Given the description of an element on the screen output the (x, y) to click on. 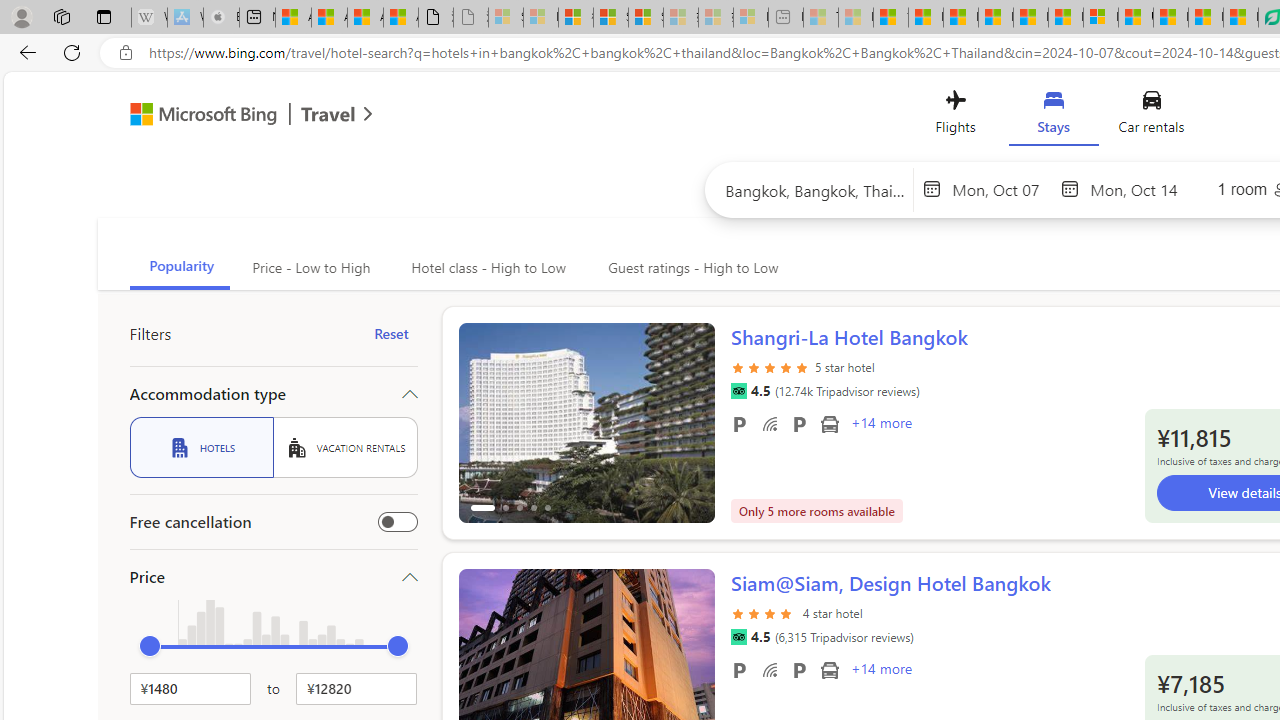
Class: msft-bing-logo msft-bing-logo-desktop (198, 114)
star rating (763, 612)
VACATION RENTALS (345, 447)
max  (397, 645)
Foo BAR | Trusted Community Engagement and Contributions (1065, 17)
Slide 1 (586, 422)
Class: msft-travel-logo (328, 114)
Travel (328, 116)
Aberdeen, Hong Kong SAR weather forecast | Microsoft Weather (329, 17)
